Given the description of an element on the screen output the (x, y) to click on. 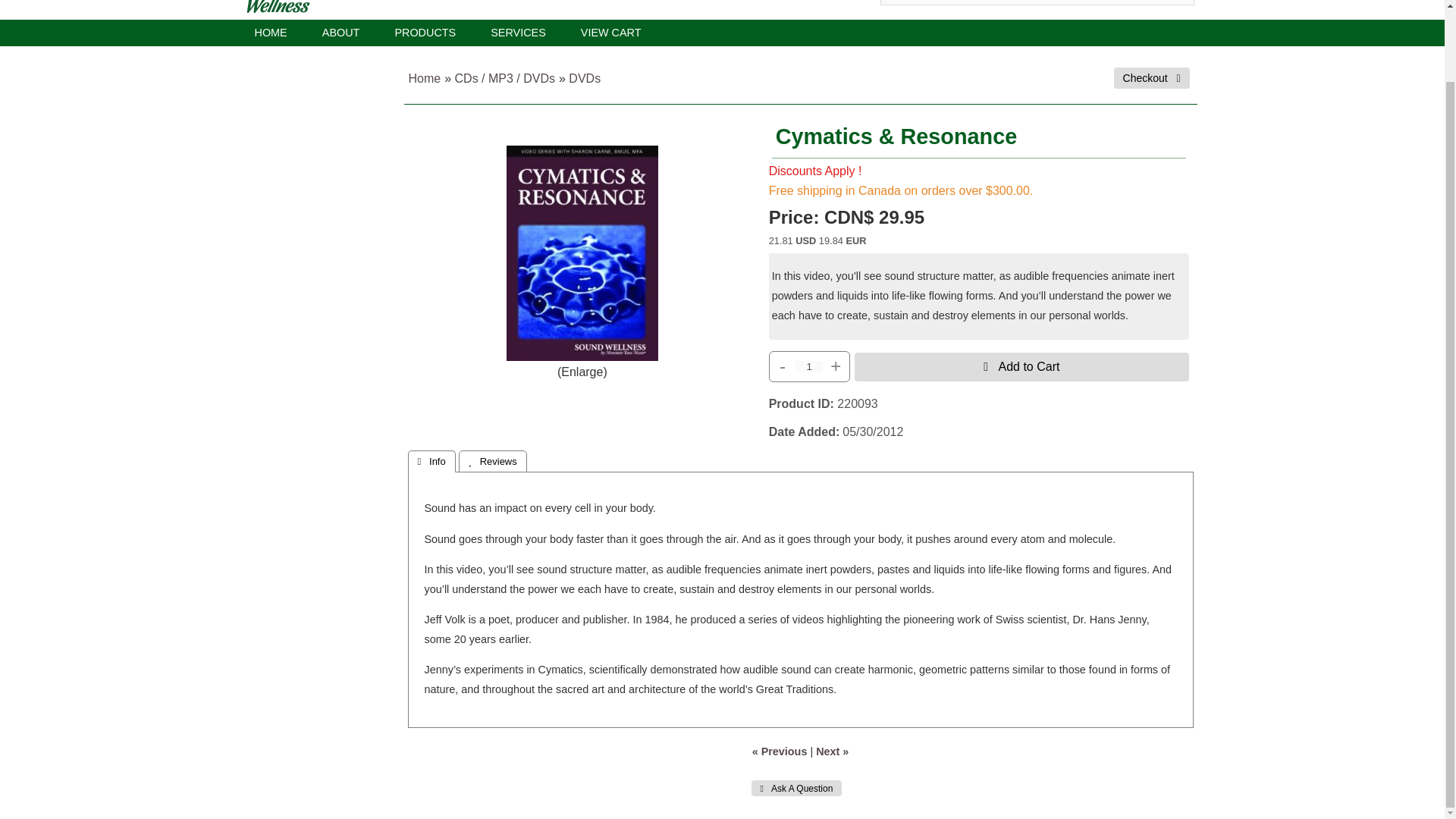
Enlarge (581, 371)
Home (424, 78)
HOME (269, 33)
SERVICES (518, 33)
ABOUT (340, 33)
PRODUCTS (425, 33)
1 (808, 366)
DVDs (584, 78)
VIEW CART (611, 33)
Quantity (808, 366)
